Given the description of an element on the screen output the (x, y) to click on. 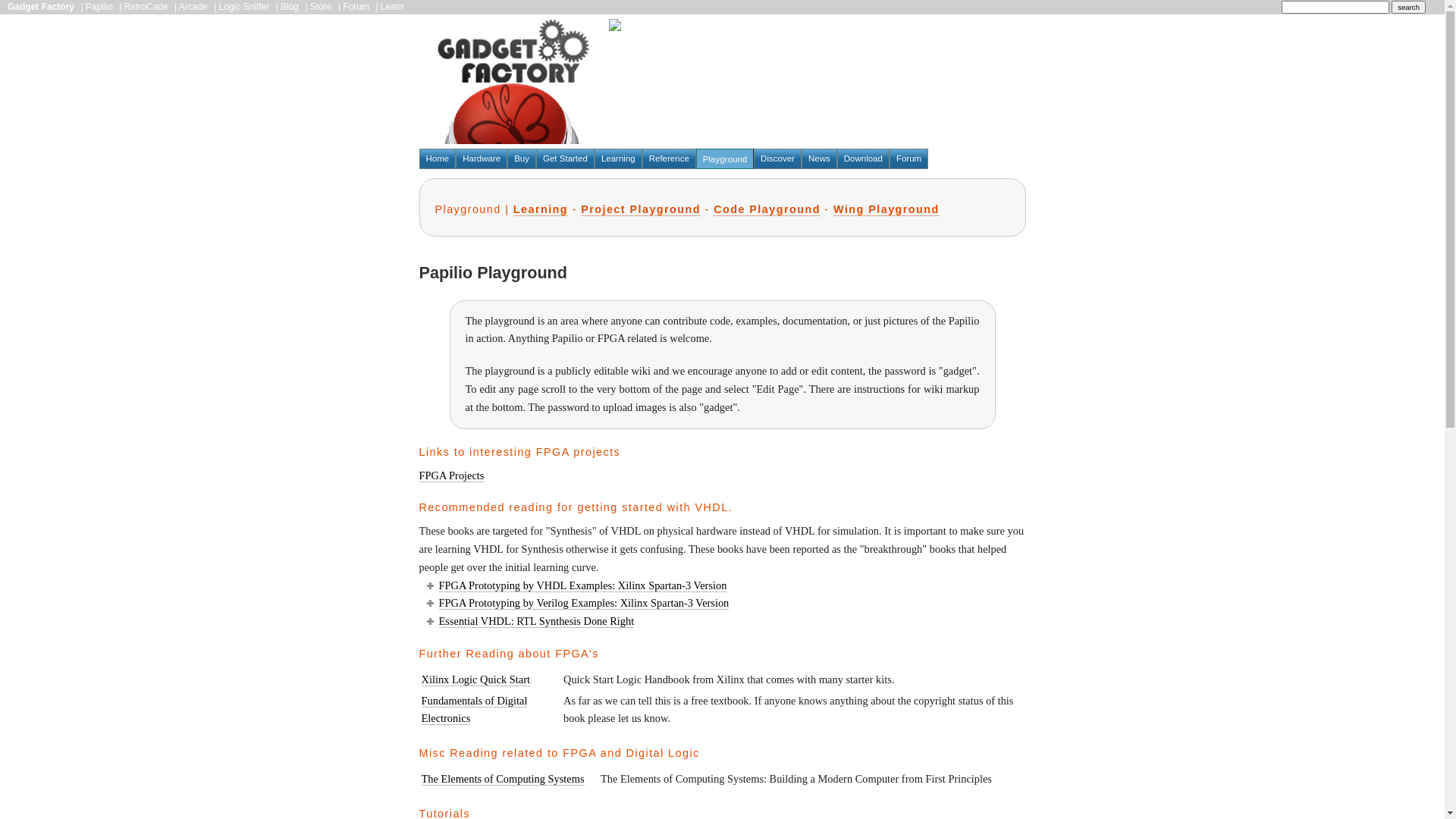
Forum Element type: text (908, 158)
Gadget Factory Element type: text (40, 6)
News Element type: text (819, 158)
Get Started Element type: text (565, 158)
Learning Element type: text (540, 209)
FPGA Projects Element type: text (450, 475)
Playground Element type: text (724, 158)
Code Playground Element type: text (766, 209)
Buy Element type: text (521, 158)
Fundamentals of Digital Electronics Element type: text (474, 709)
Home Element type: text (436, 158)
Xilinx Logic Quick Start Element type: text (475, 679)
search Element type: text (1408, 6)
Papilio Element type: text (98, 6)
Download Element type: text (863, 158)
Essential VHDL: RTL Synthesis Done Right Element type: text (535, 621)
Forum Element type: text (355, 6)
Project Playground Element type: text (640, 209)
Arcade Element type: text (192, 6)
Logic Sniffer Element type: text (244, 6)
FPGA Prototyping by VHDL Examples: Xilinx Spartan-3 Version Element type: text (582, 585)
Reference Element type: text (669, 158)
Learning Element type: text (618, 158)
The Elements of Computing Systems Element type: text (502, 778)
Blog Element type: text (289, 6)
Discover Element type: text (777, 158)
Hardware Element type: text (481, 158)
Store Element type: text (321, 6)
Gadget Factory Element type: text (513, 81)
Learn Element type: text (392, 6)
RetroCade Element type: text (146, 6)
Wing Playground Element type: text (886, 209)
